Given the description of an element on the screen output the (x, y) to click on. 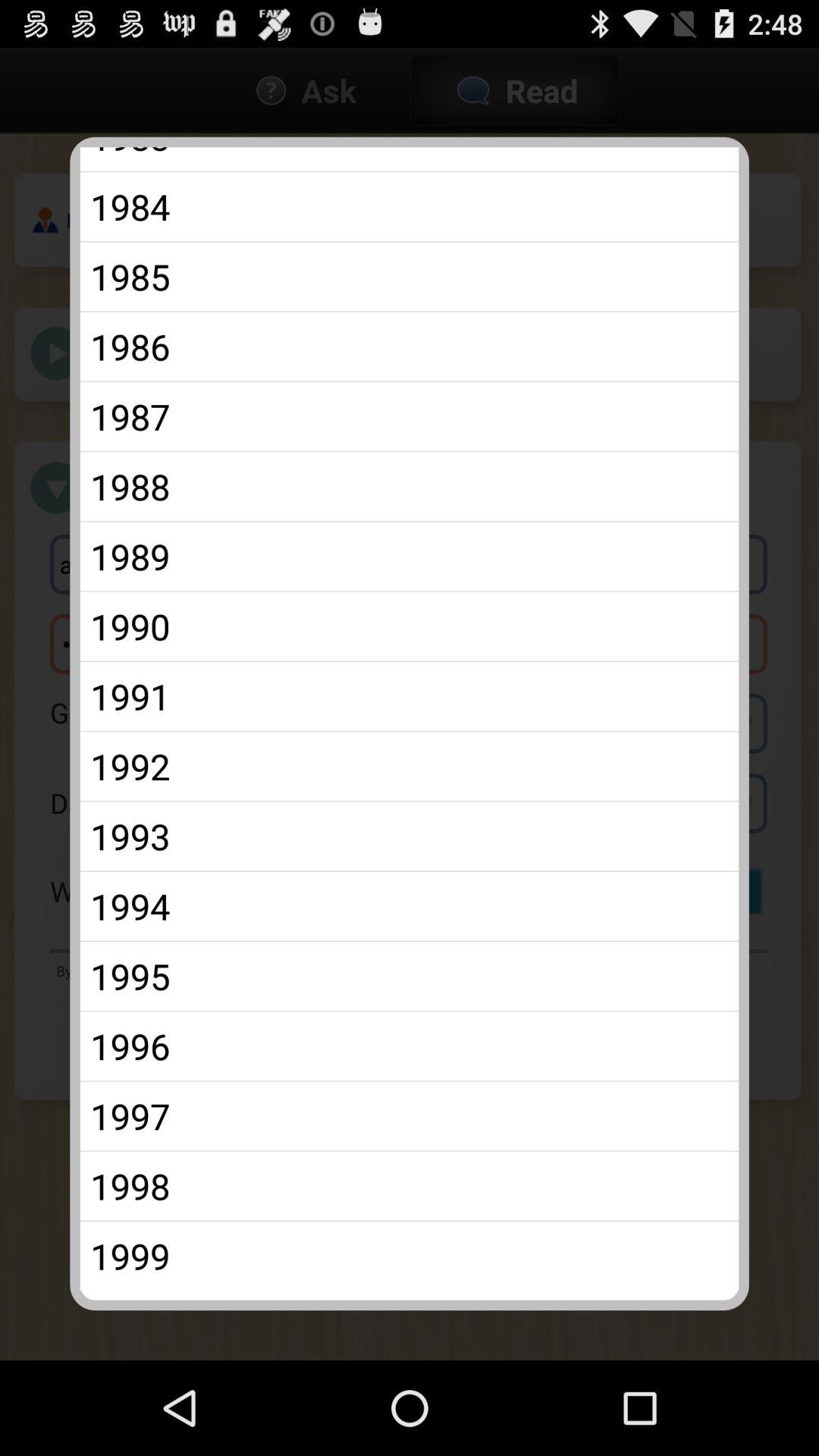
tap the 1986 item (409, 346)
